Given the description of an element on the screen output the (x, y) to click on. 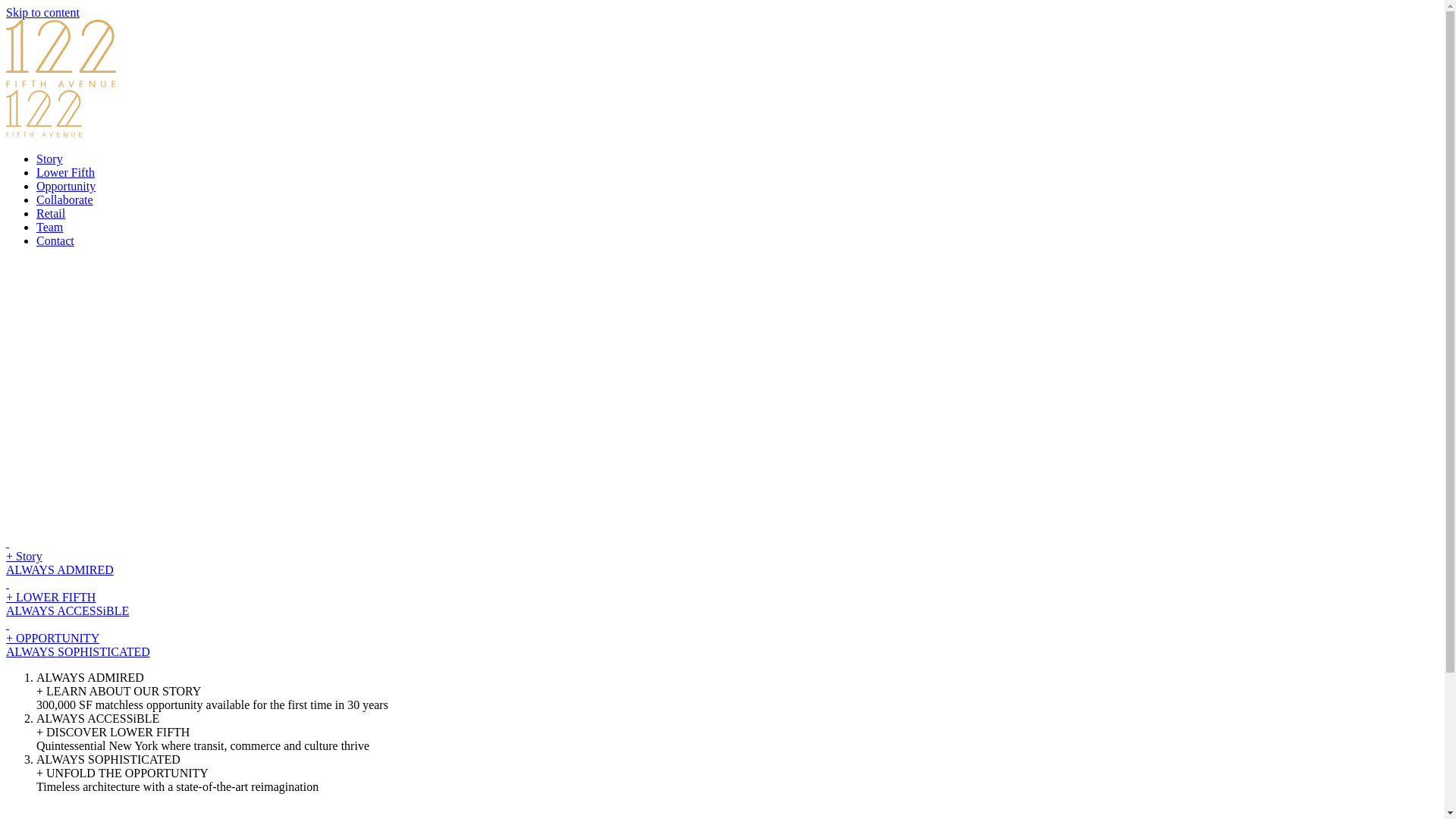
ALWAYS SOPHISTICATED Element type: text (78, 651)
  Element type: text (7, 624)
Lower Fifth Element type: text (65, 172)
Team Element type: text (49, 226)
ALWAYS ACCESSiBLE Element type: text (67, 610)
+ LOWER FIFTH Element type: text (50, 596)
ALWAYS ADMIRED Element type: text (59, 569)
+ Story Element type: text (24, 555)
Contact Element type: text (55, 240)
Skip to content Element type: text (42, 12)
+ OPPORTUNITY Element type: text (52, 637)
Retail Element type: text (50, 213)
Opportunity Element type: text (65, 185)
  Element type: text (7, 542)
  Element type: text (7, 583)
Story Element type: text (49, 158)
Collaborate Element type: text (64, 199)
